Given the description of an element on the screen output the (x, y) to click on. 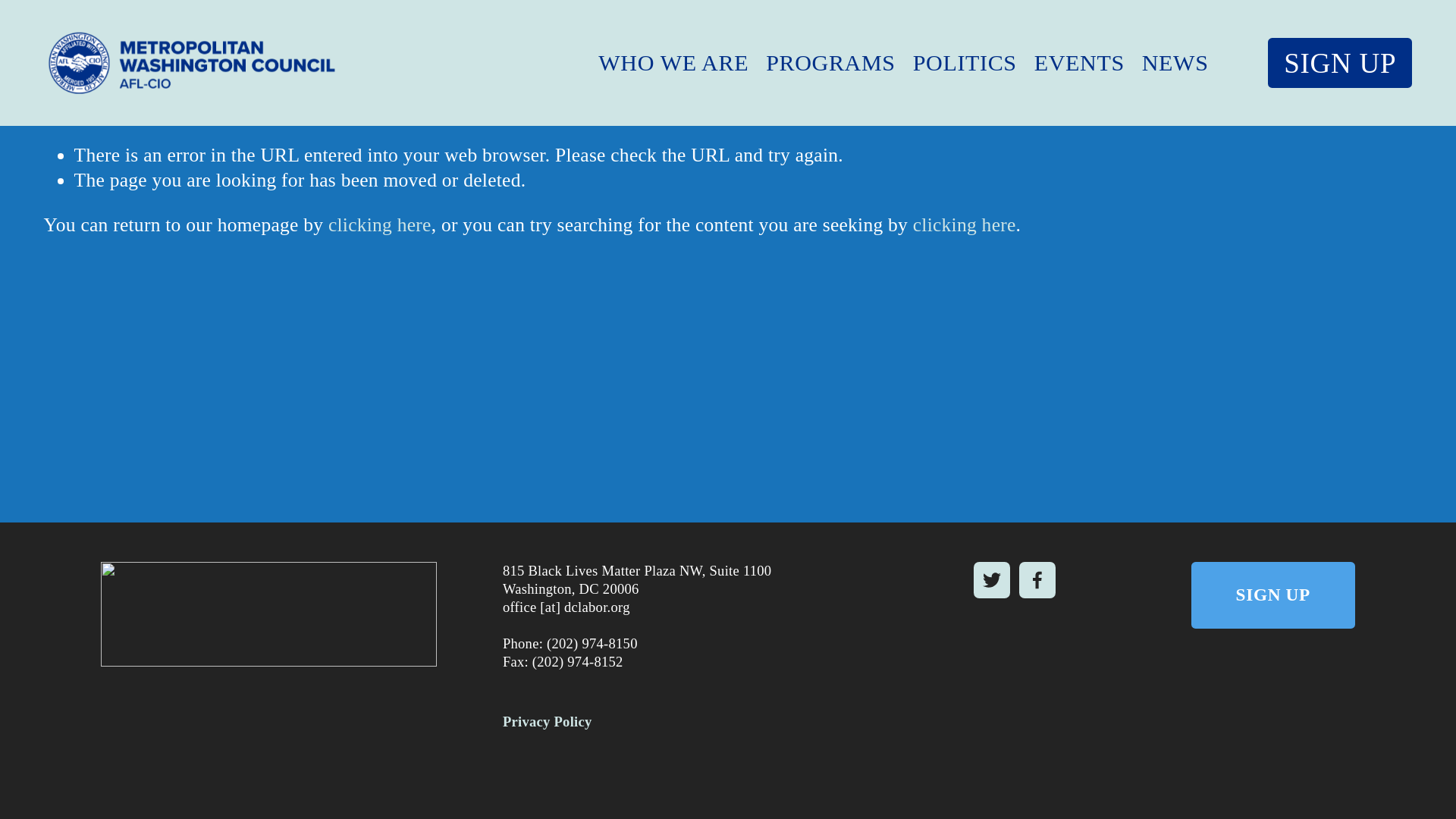
EVENTS (1078, 63)
NEWS (1174, 63)
SIGN UP (1340, 61)
PROGRAMS (830, 63)
POLITICS (964, 63)
WHO WE ARE (673, 63)
